Given the description of an element on the screen output the (x, y) to click on. 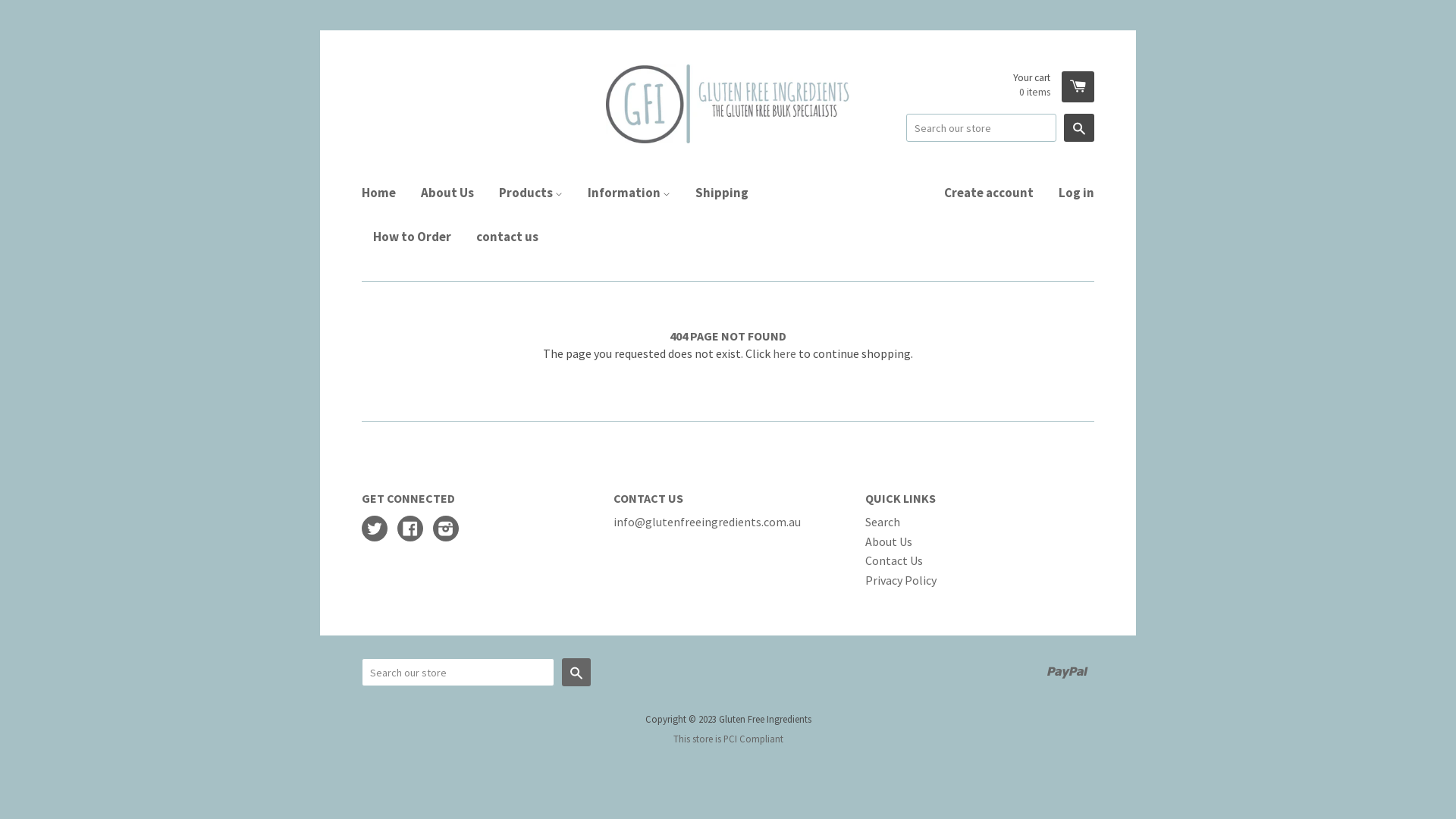
Facebook Element type: text (410, 529)
About Us Element type: text (888, 541)
Search Element type: text (1078, 127)
Search Element type: text (575, 672)
Search Element type: text (882, 521)
Log in Element type: text (1070, 192)
Create account Element type: text (988, 192)
Home Element type: text (384, 192)
Instagram Element type: text (445, 529)
Information Element type: text (628, 192)
Your cart
0 items Element type: text (1053, 86)
About Us Element type: text (447, 192)
contact us Element type: text (501, 236)
This store is PCI Compliant Element type: text (728, 738)
Products Element type: text (530, 192)
Privacy Policy Element type: text (900, 579)
Contact Us Element type: text (893, 559)
Shipping Element type: text (721, 192)
here Element type: text (784, 352)
How to Order Element type: text (411, 236)
info@glutenfreeingredients.com.au Element type: text (706, 521)
Twitter Element type: text (374, 529)
